Given the description of an element on the screen output the (x, y) to click on. 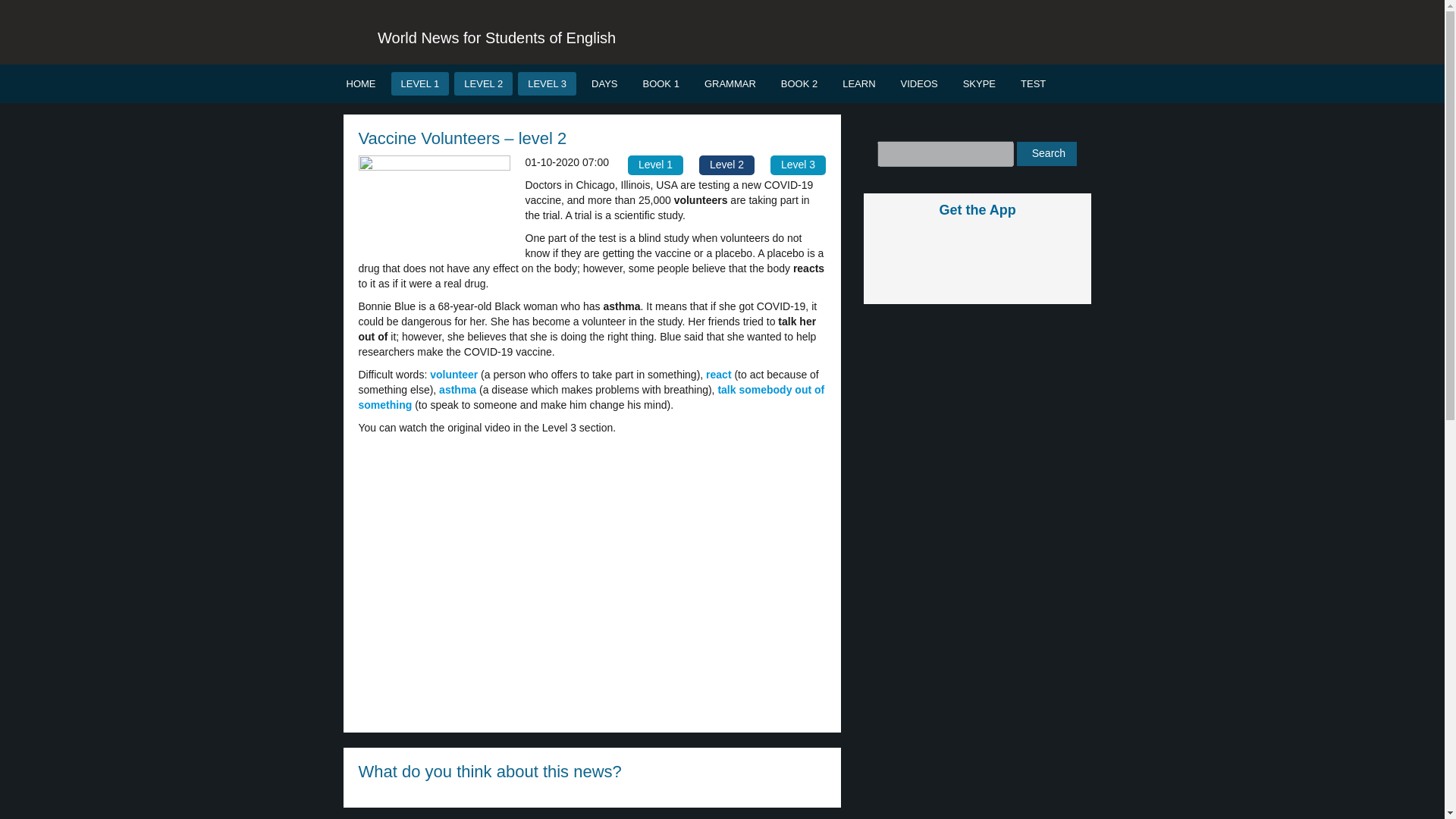
Level 1 (654, 165)
LEVEL 2 (483, 83)
DAYS (603, 83)
Search (1046, 153)
BOOK 2 (799, 83)
SKYPE (979, 83)
LEVEL 3 (547, 83)
GRAMMAR (729, 83)
TEST (1032, 83)
LEARN (858, 83)
HOME (360, 83)
BOOK 1 (659, 83)
VIDEOS (919, 83)
LEVEL 1 (420, 83)
